Given the description of an element on the screen output the (x, y) to click on. 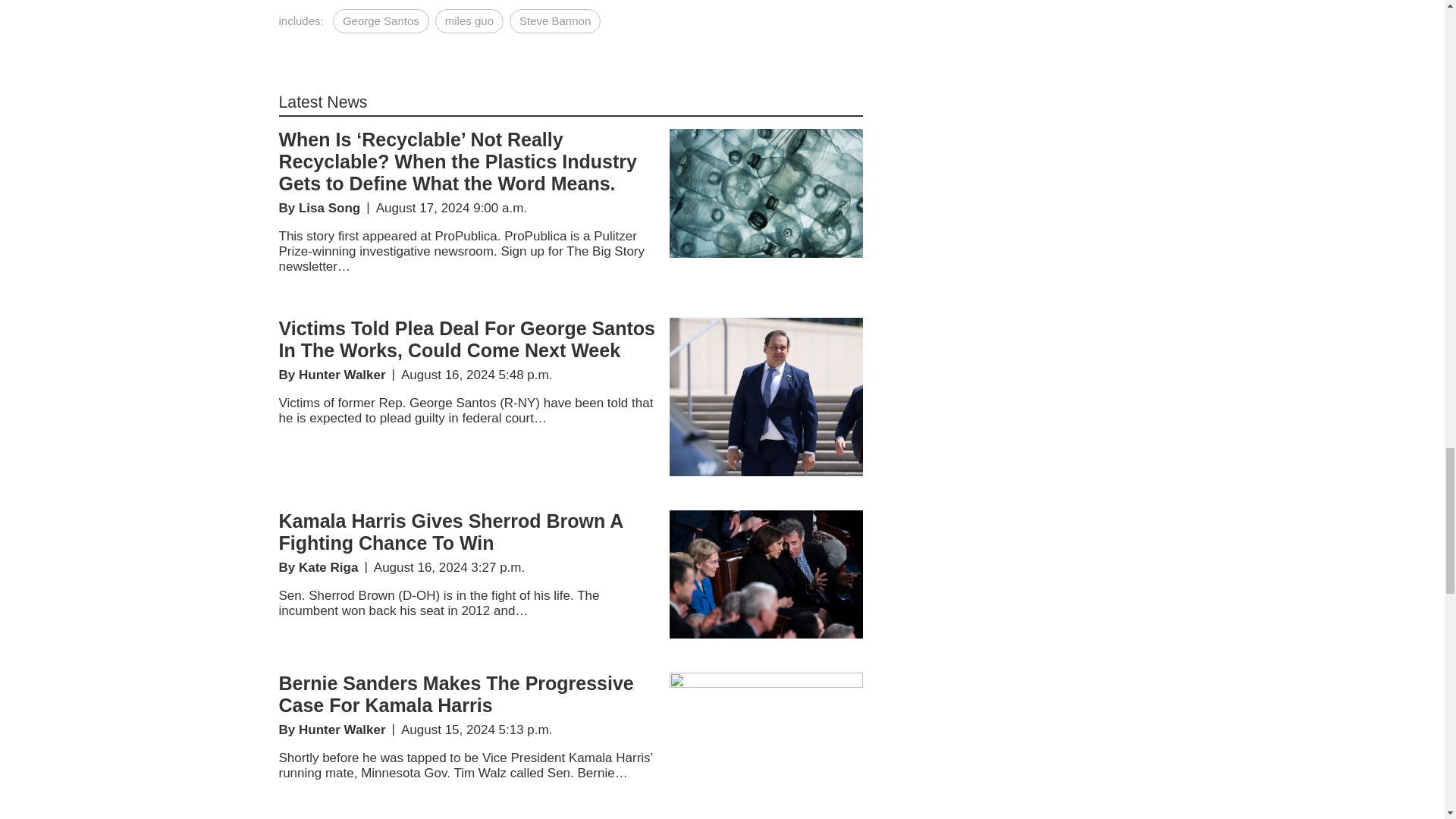
Posts by Lisa Song (328, 207)
Posts by Hunter Walker (341, 374)
Posts by Kate Riga (328, 567)
Posts by Hunter Walker (341, 729)
